Given the description of an element on the screen output the (x, y) to click on. 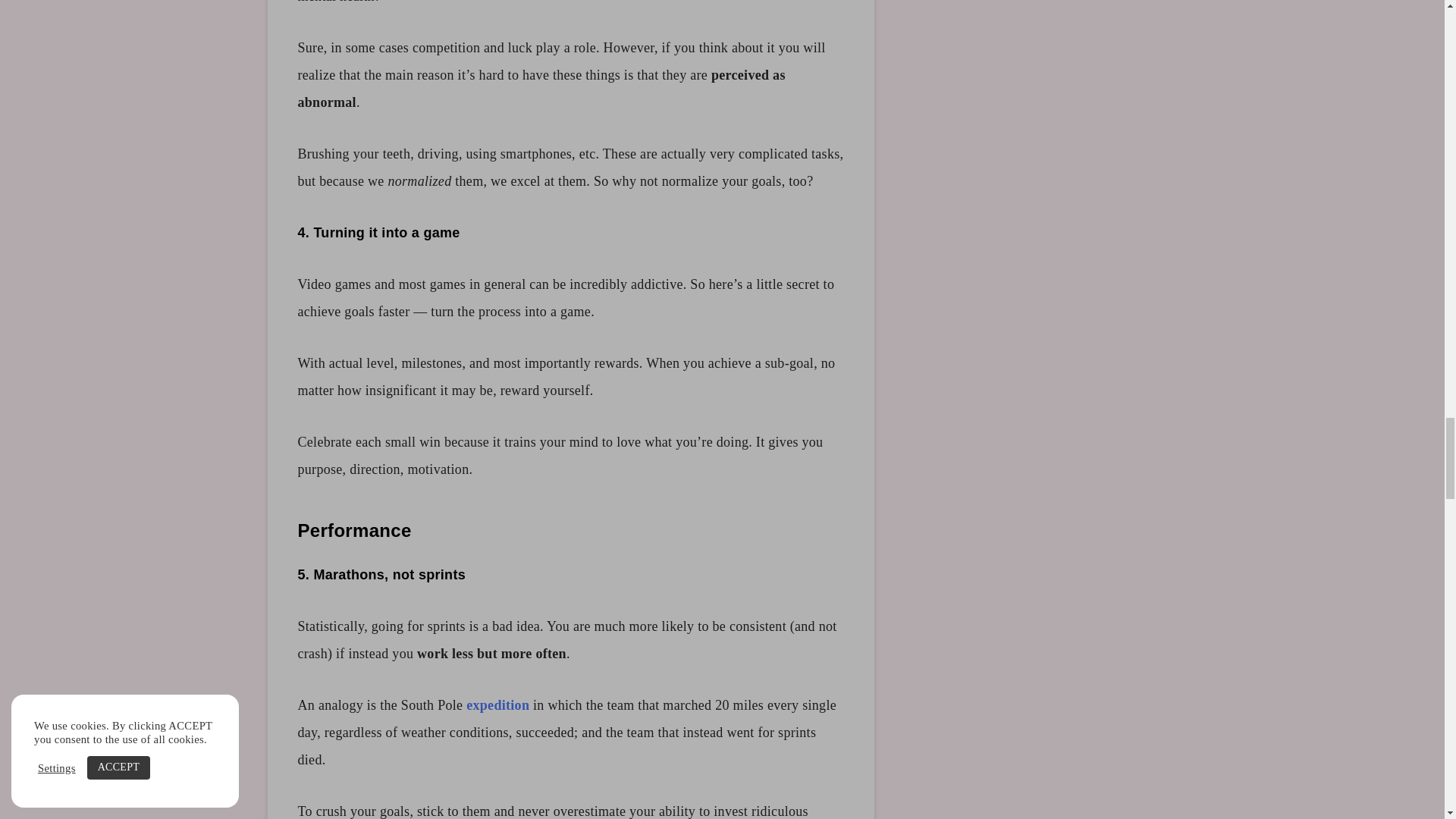
expedition (497, 704)
